Given the description of an element on the screen output the (x, y) to click on. 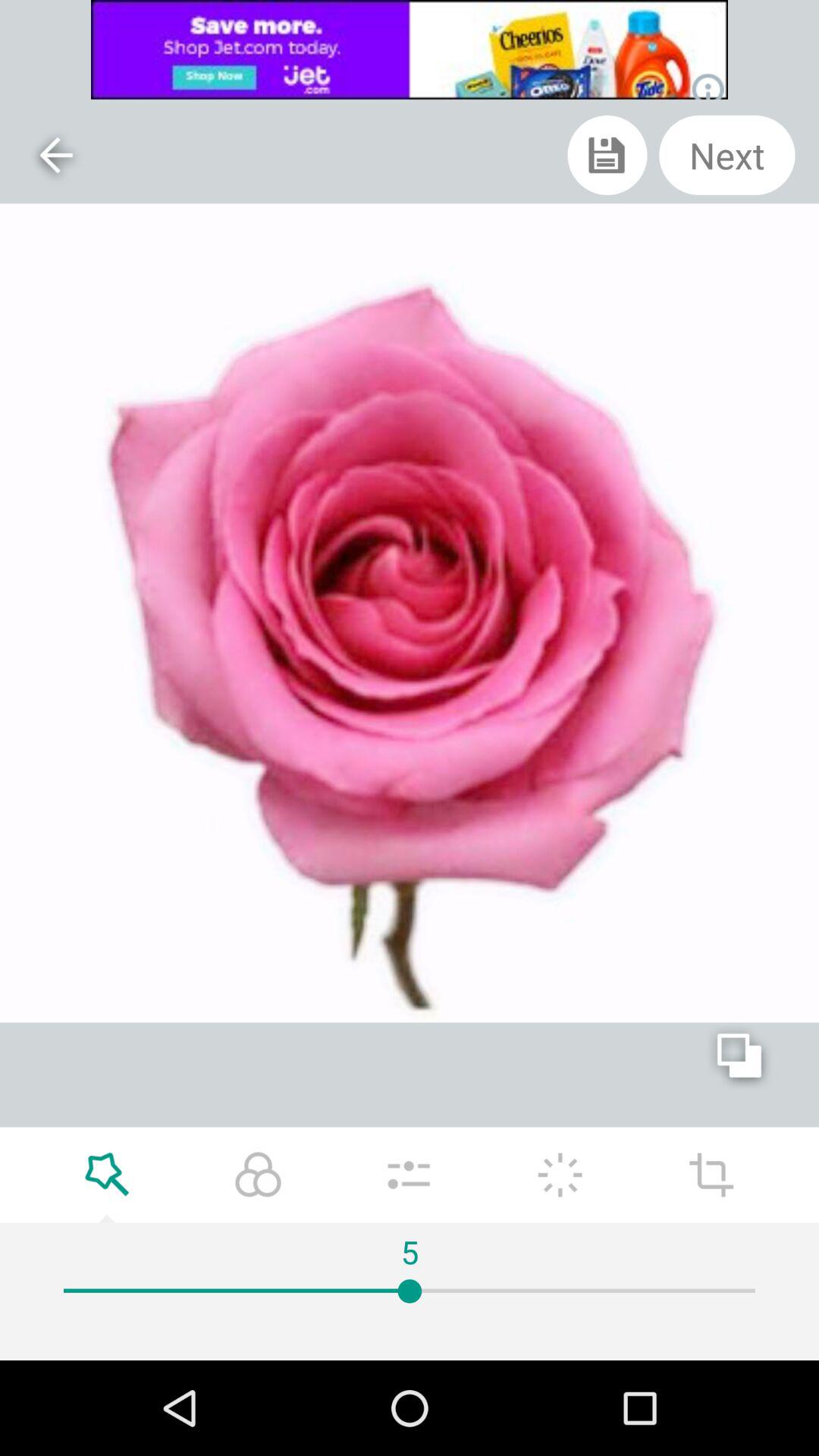
open effects (106, 1174)
